Given the description of an element on the screen output the (x, y) to click on. 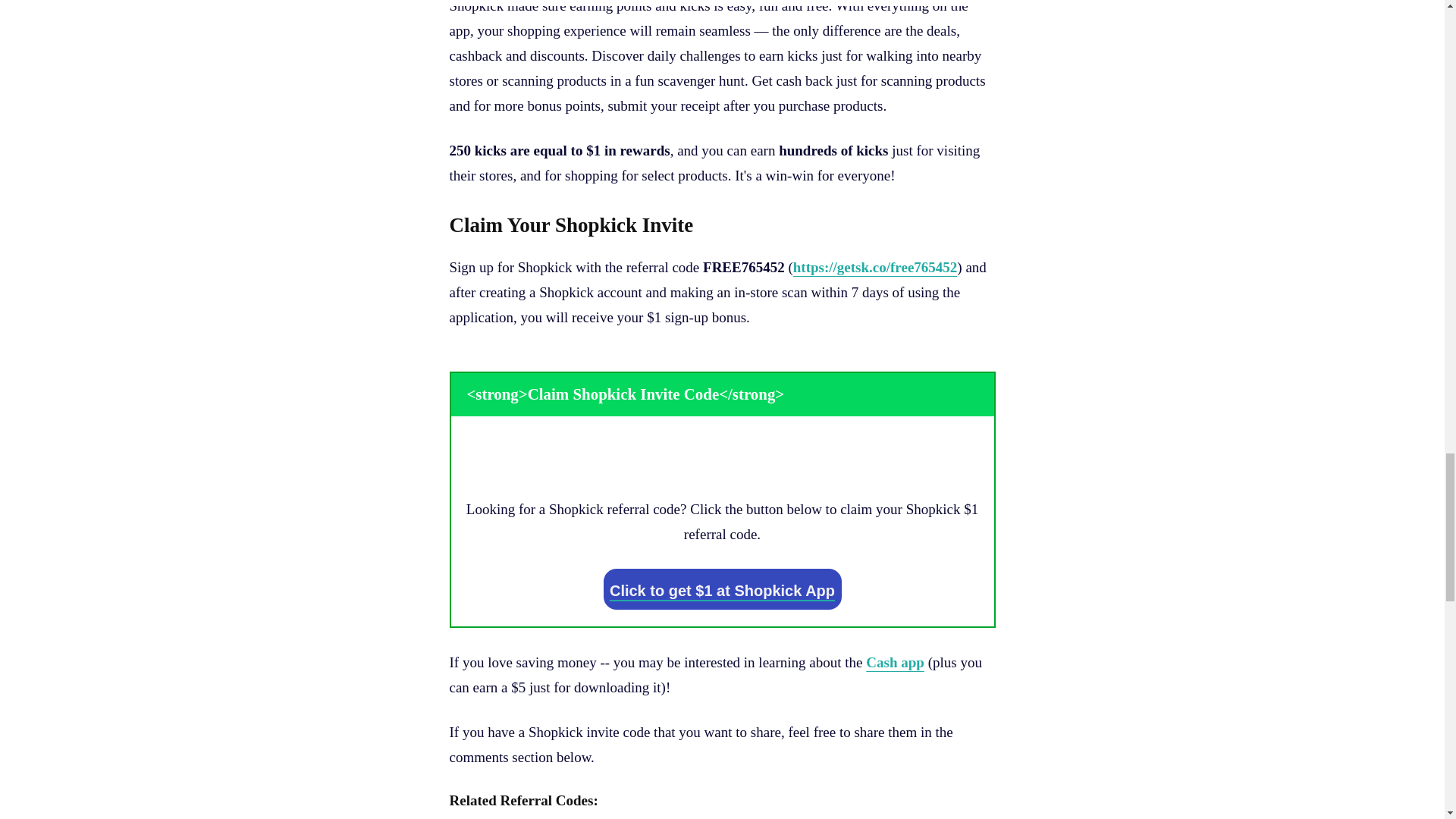
Click to claim referral code. (721, 588)
